Given the description of an element on the screen output the (x, y) to click on. 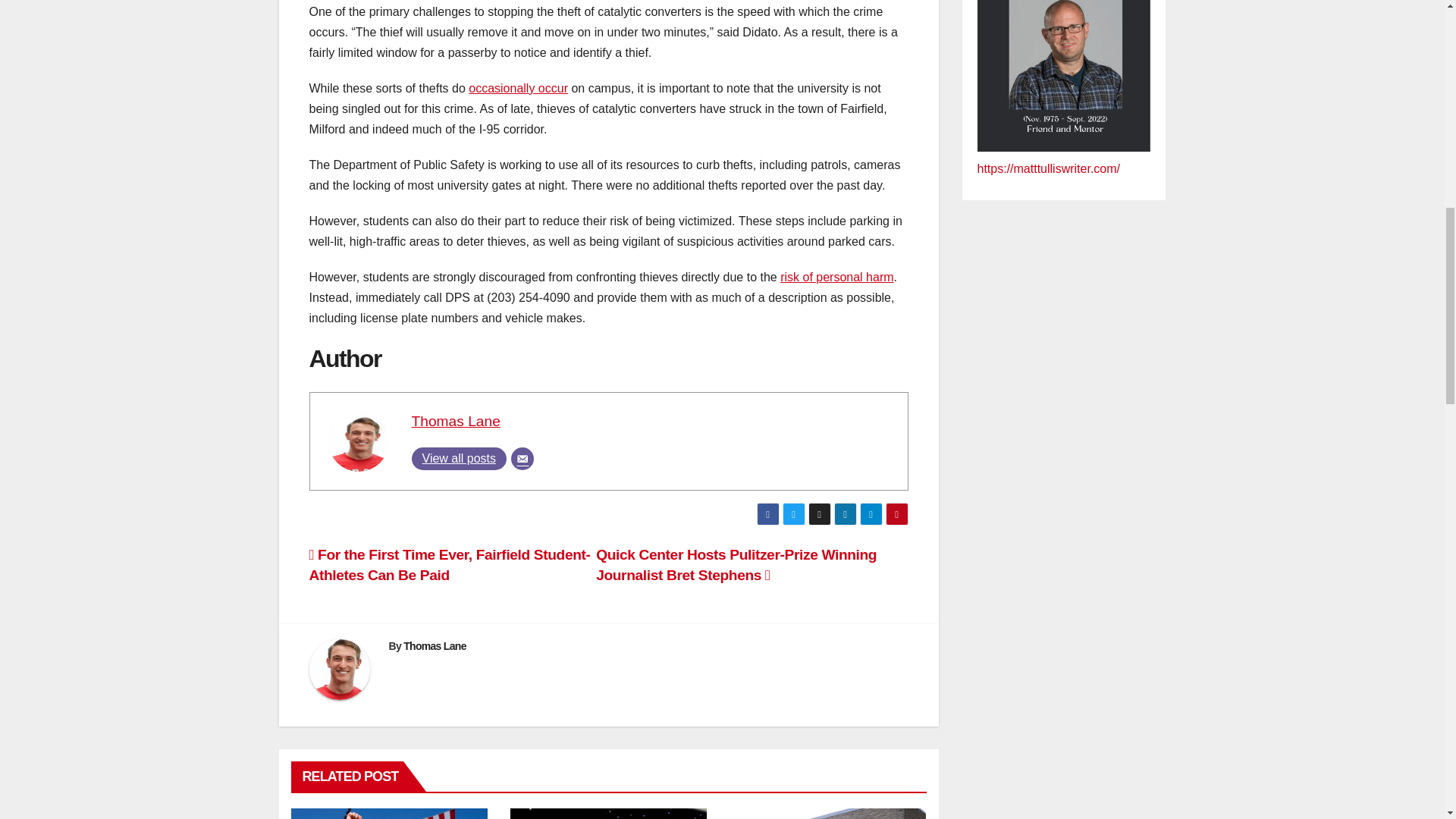
risk of personal harm (836, 277)
View all posts (458, 458)
occasionally occur (517, 88)
Thomas Lane (454, 421)
Thomas Lane (454, 421)
View all posts (458, 458)
